Given the description of an element on the screen output the (x, y) to click on. 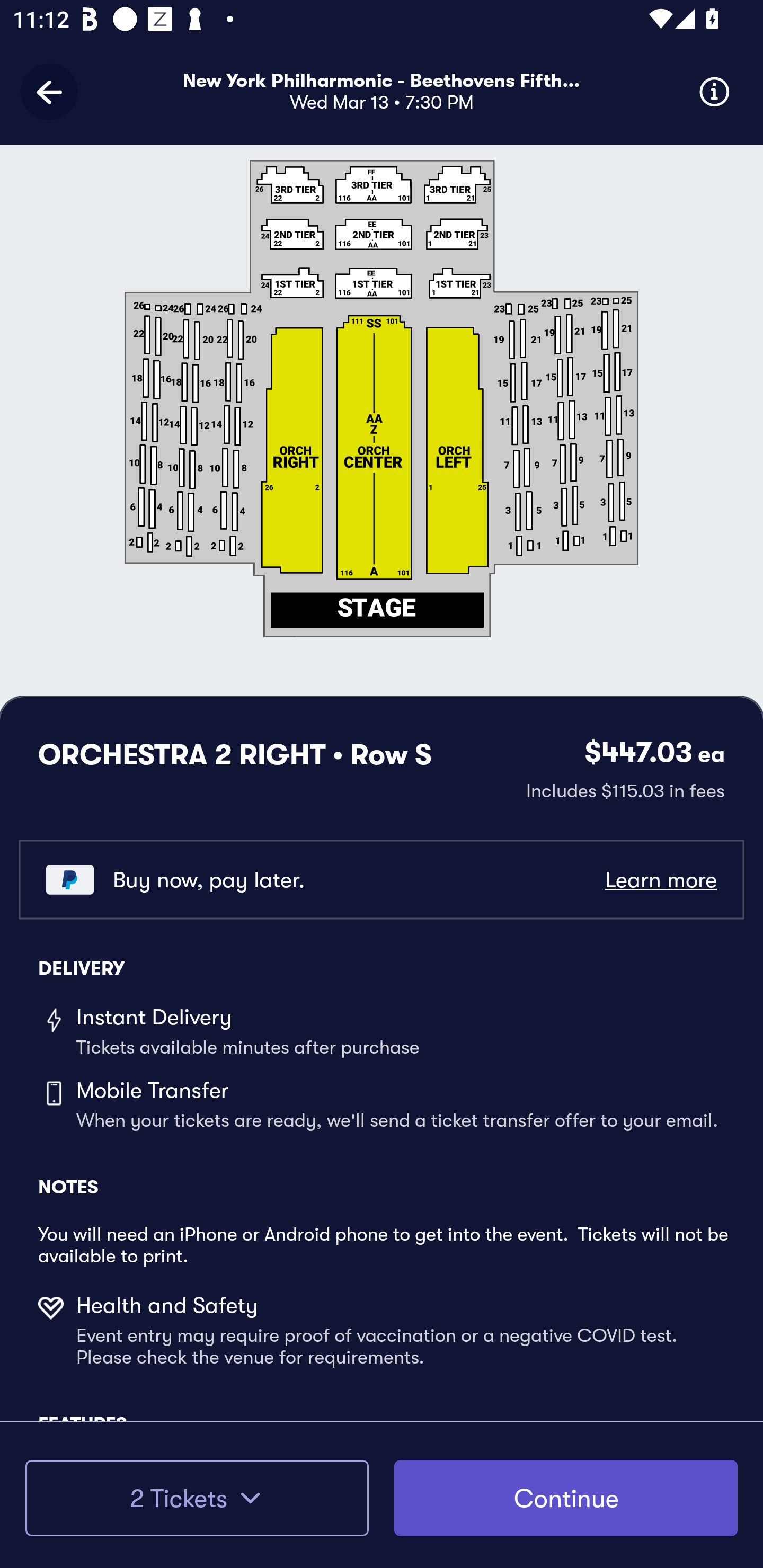
Learn more (660, 880)
2 Tickets (196, 1497)
Continue (565, 1497)
